Given the description of an element on the screen output the (x, y) to click on. 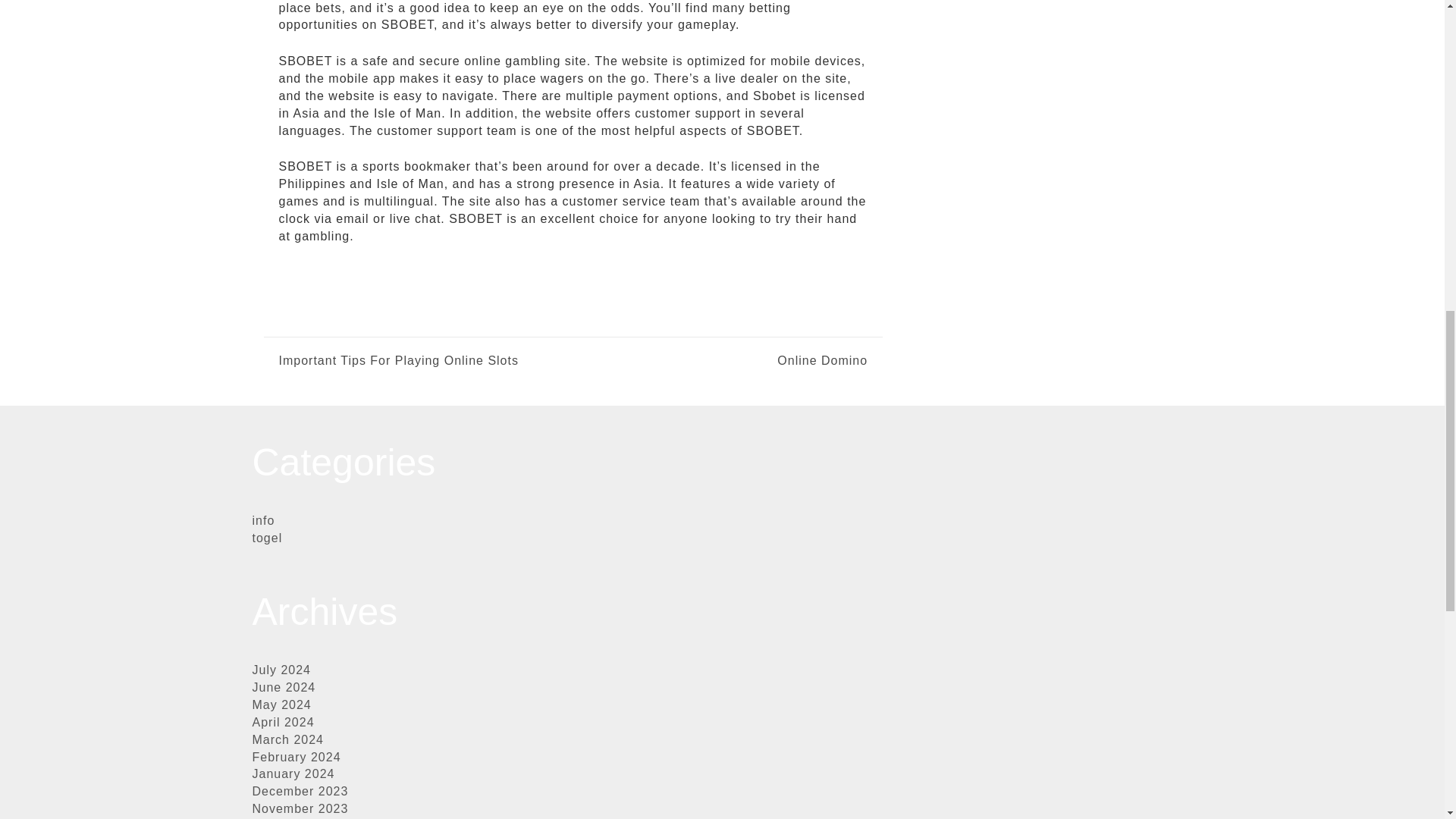
April 2024 (282, 721)
Important Tips For Playing Online Slots (398, 361)
November 2023 (299, 808)
Online Domino (720, 361)
June 2024 (283, 686)
March 2024 (287, 739)
info (263, 520)
December 2023 (299, 790)
togel (266, 537)
May 2024 (281, 704)
July 2024 (281, 669)
January 2024 (292, 773)
February 2024 (295, 757)
